Given the description of an element on the screen output the (x, y) to click on. 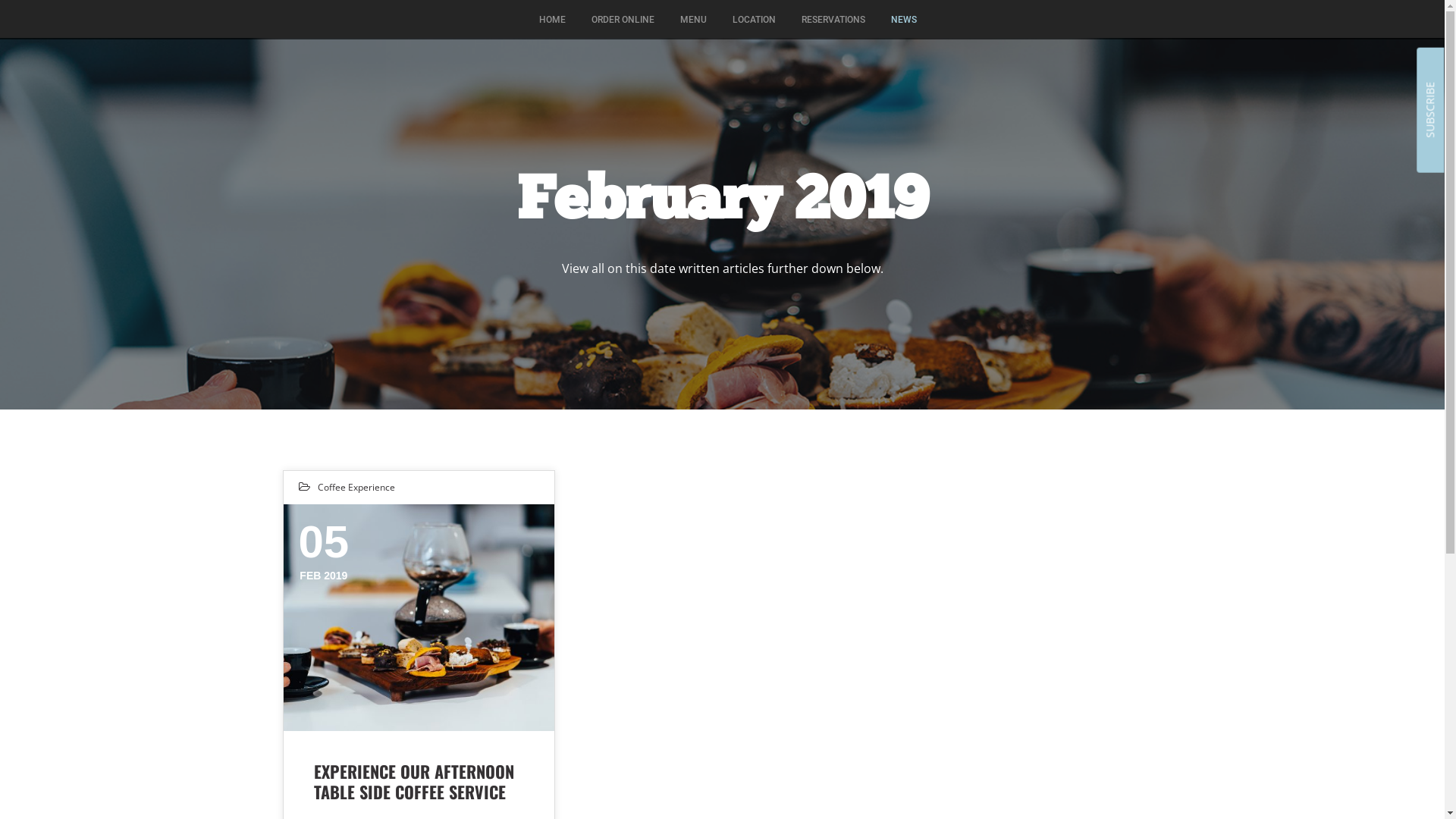
HOME Element type: text (552, 19)
LOCATION Element type: text (754, 19)
RESERVATIONS Element type: text (833, 19)
MENU Element type: text (693, 19)
NEWS Element type: text (897, 19)
ORDER ONLINE Element type: text (622, 19)
Coffee Experience Element type: text (355, 486)
